Given the description of an element on the screen output the (x, y) to click on. 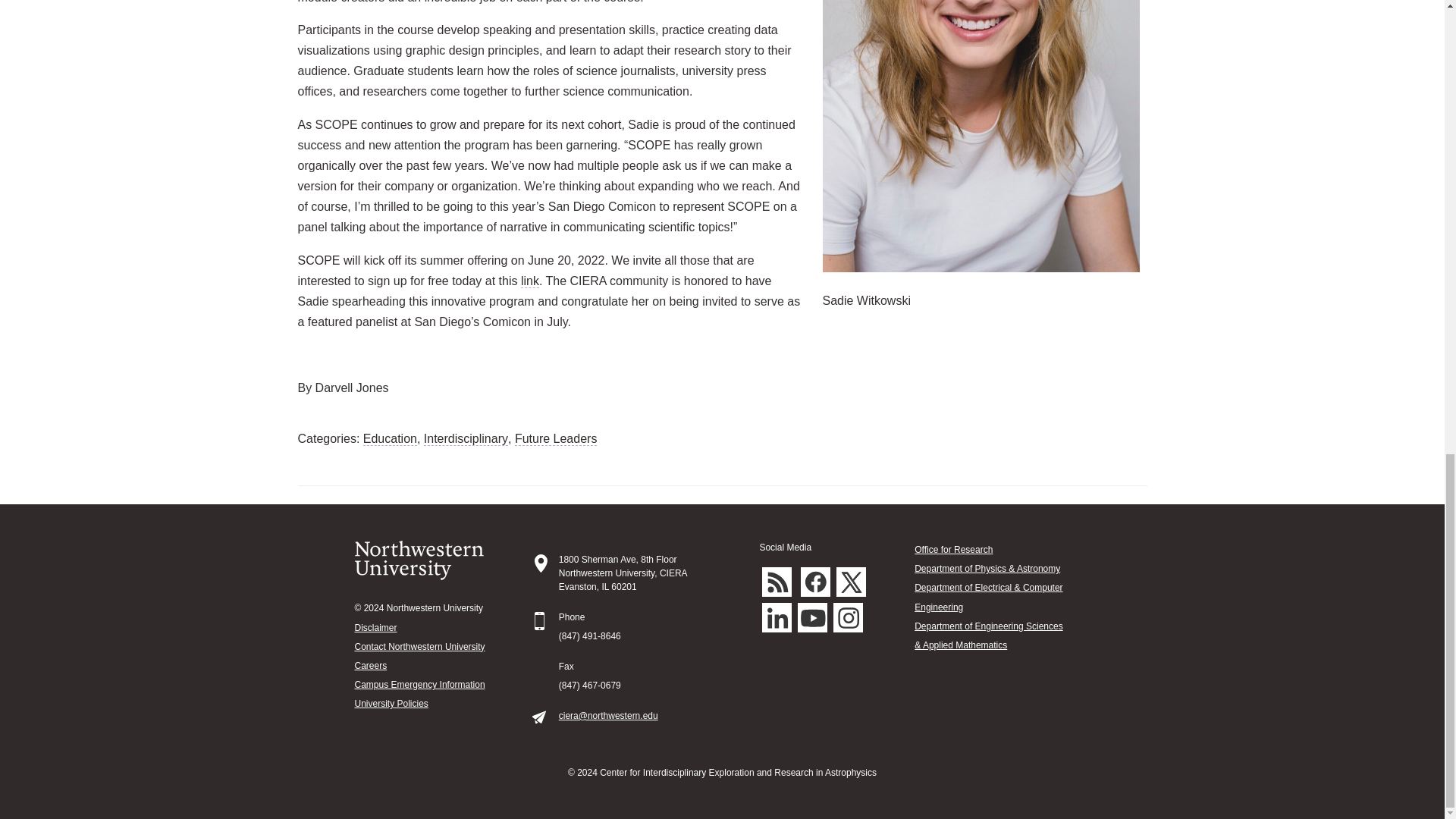
YouTube (812, 617)
Instagram (847, 617)
rss feed (776, 582)
LinkedIn (776, 617)
Twitter (850, 582)
Facebook (814, 582)
